Given the description of an element on the screen output the (x, y) to click on. 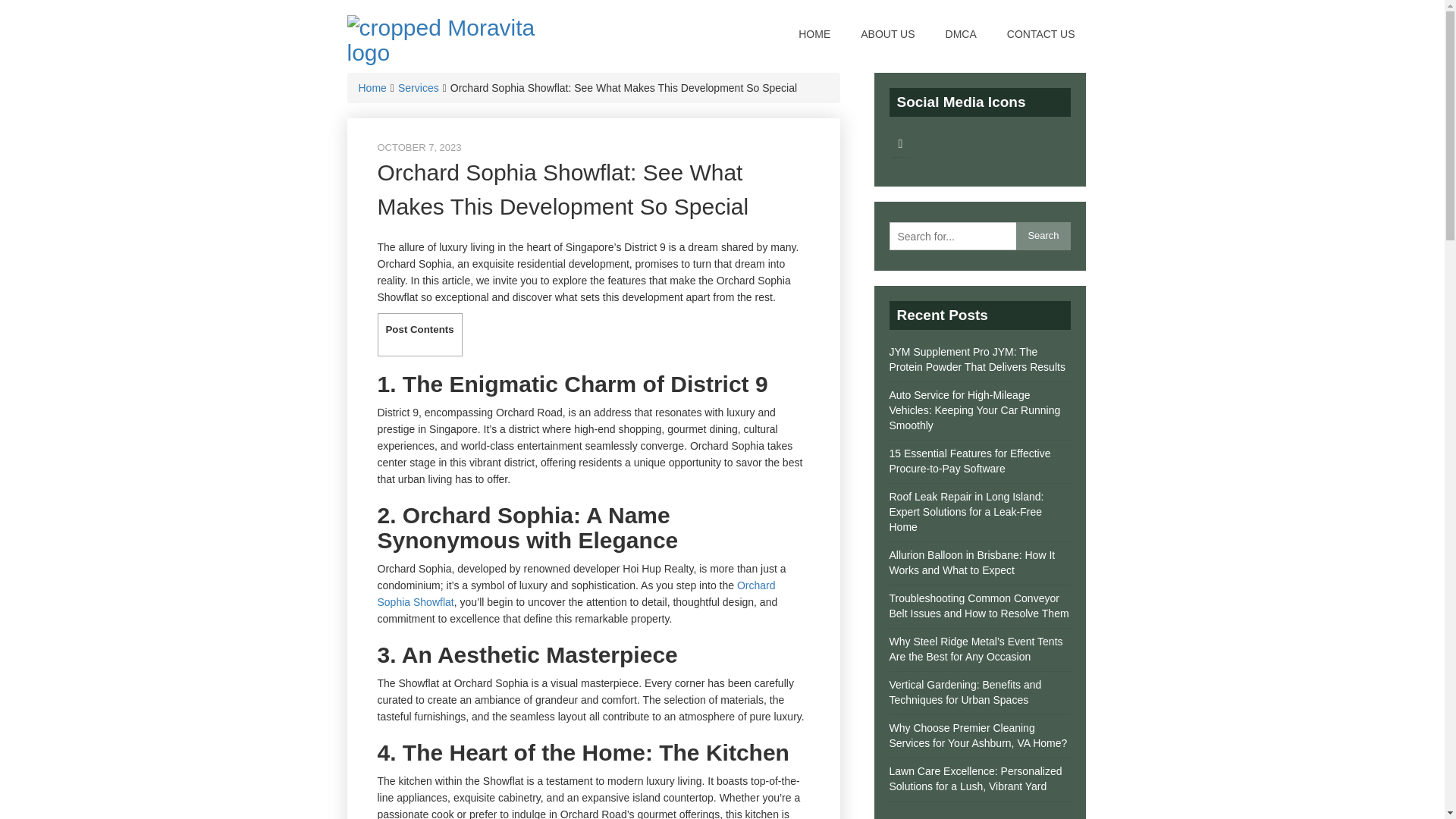
HOME (814, 33)
Search (1043, 235)
Orchard Sophia Showflat (576, 593)
15 Essential Features for Effective Procure-to-Pay Software (968, 461)
ABOUT US (887, 33)
Search (1043, 235)
